Given the description of an element on the screen output the (x, y) to click on. 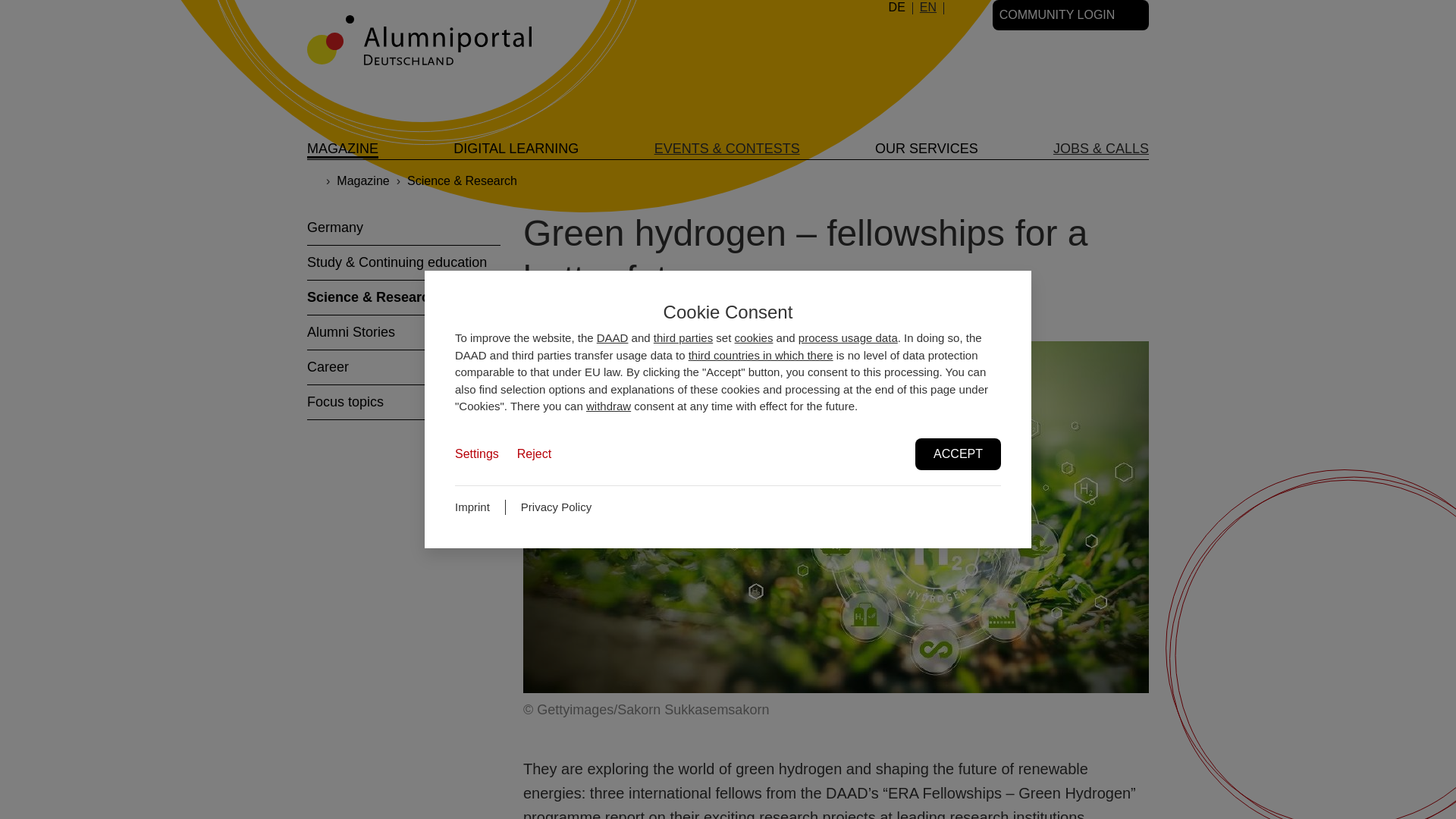
Page opens in new window (556, 506)
DAAD (612, 337)
Zum deutschen Auftritt wechseln (896, 6)
Reject (533, 454)
DE (896, 6)
MAGAZINE (342, 148)
ACCEPT (958, 454)
OUR SERVICES (926, 148)
COMMUNITY LOGIN (1070, 15)
third parties (683, 337)
